Given the description of an element on the screen output the (x, y) to click on. 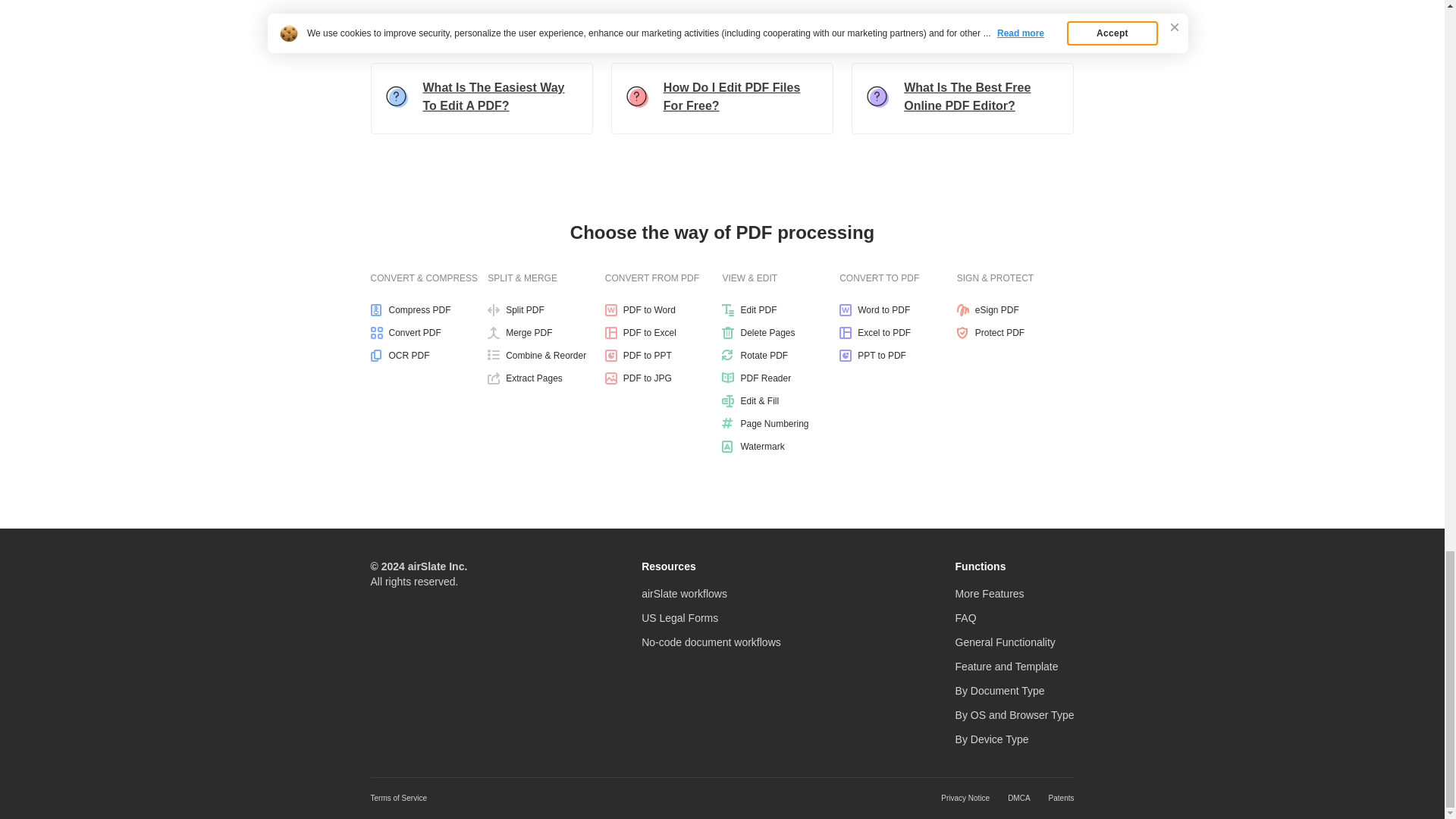
What Is The Best Free Online PDF Editor? (962, 98)
PPT to PDF (898, 355)
Protect PDF (1015, 332)
Convert PDF (428, 332)
Split PDF (546, 309)
Compress PDF (428, 309)
PDF to Word (663, 309)
What Is The Easiest Way To Edit A PDF? (480, 98)
Page Numbering (781, 423)
Word to PDF (898, 309)
eSign PDF (1015, 309)
Rotate PDF (781, 355)
Excel to PDF (898, 332)
Edit PDF (781, 309)
PDF Reader (781, 378)
